Given the description of an element on the screen output the (x, y) to click on. 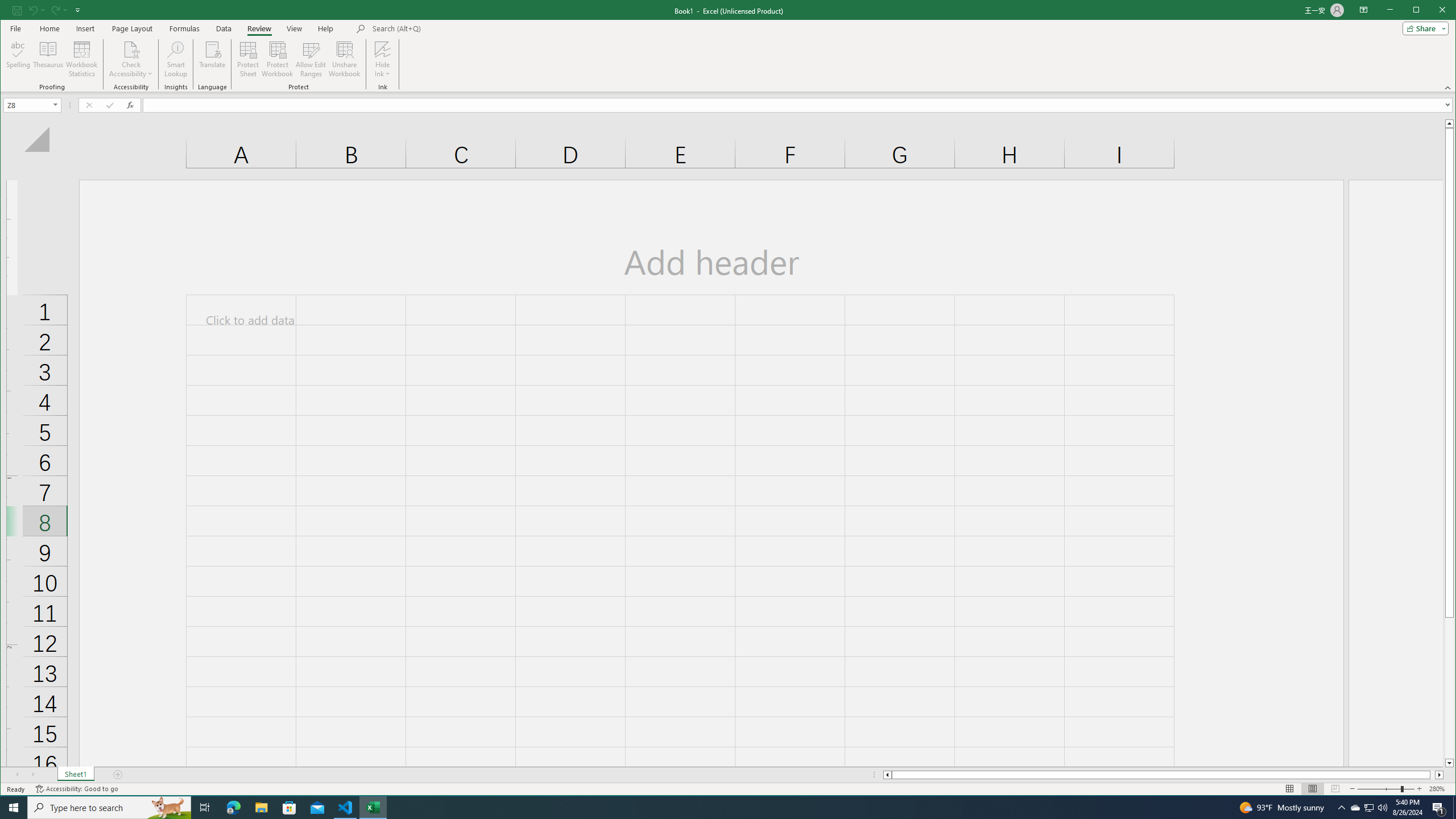
Scroll Left (18, 774)
Line up (1449, 122)
More Options (382, 69)
Open (55, 105)
Hide Ink (382, 59)
Name Box (27, 104)
Maximize (1432, 11)
Zoom In (1419, 788)
Hide Ink (382, 48)
Workbook Statistics (82, 59)
Type here to search (108, 807)
Zoom Out (1378, 788)
Page down (1449, 687)
